Given the description of an element on the screen output the (x, y) to click on. 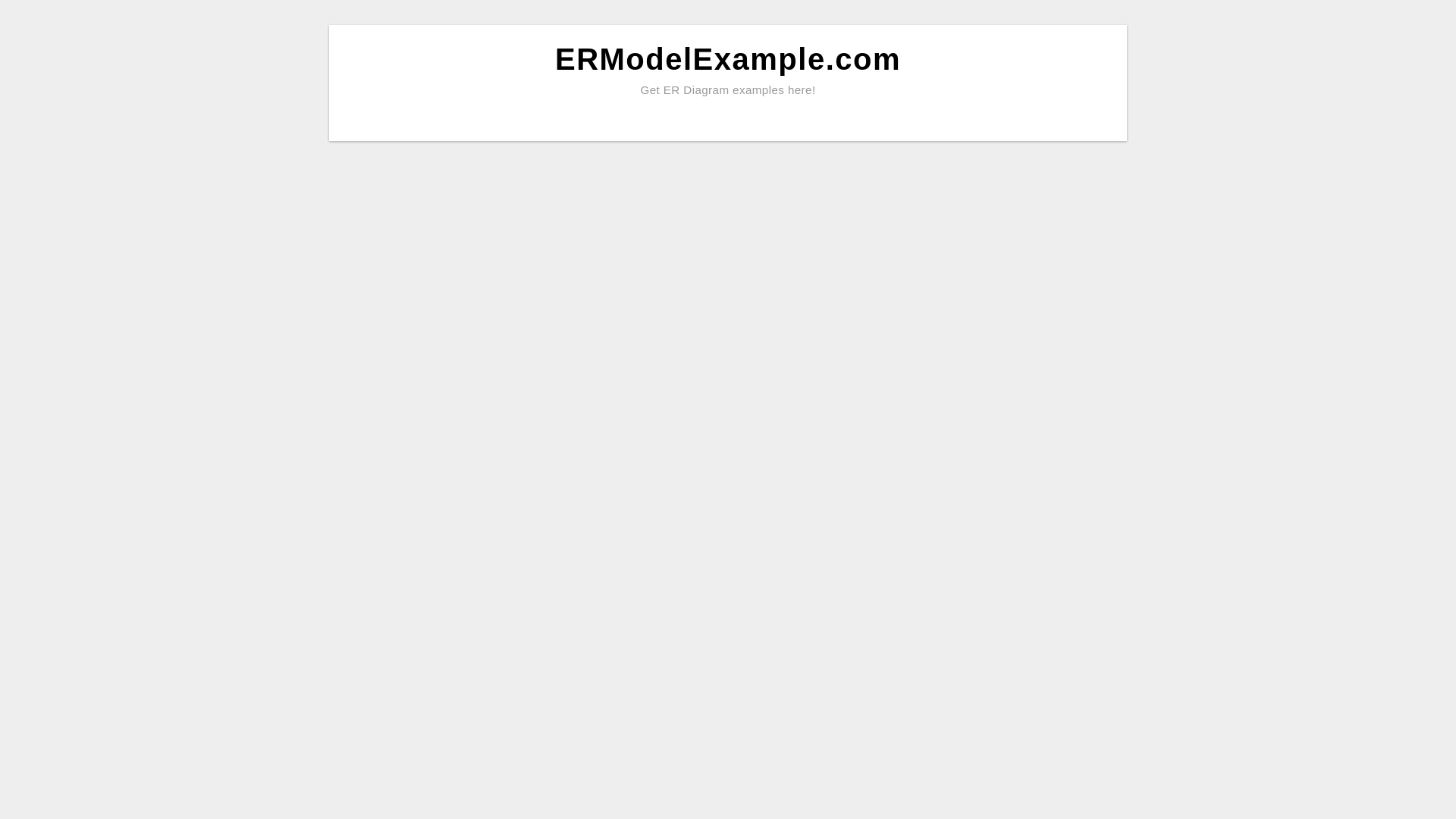
ERModelExample.com (727, 59)
